Given the description of an element on the screen output the (x, y) to click on. 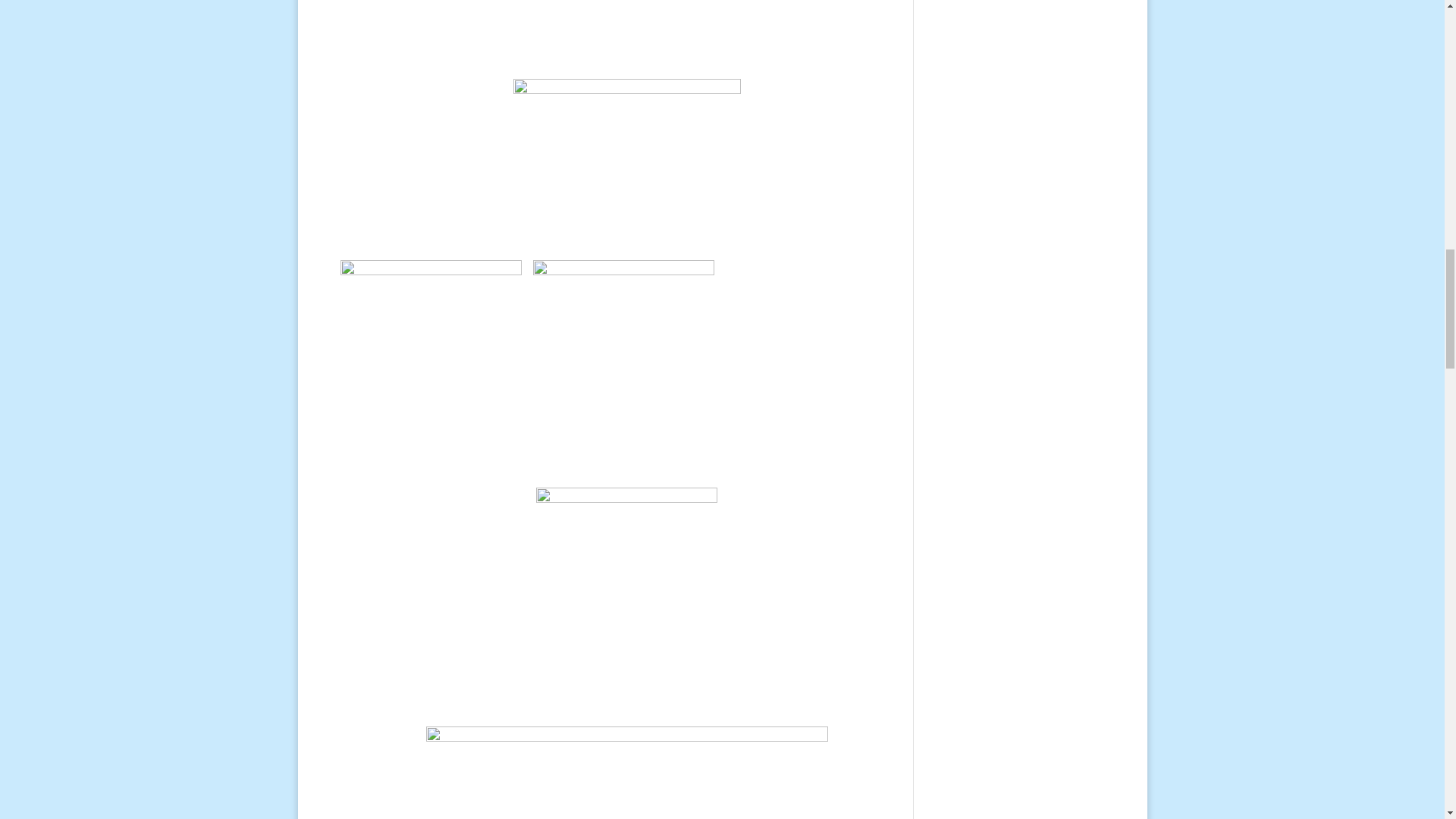
Amused by his pet rock (625, 169)
The Balloons! (627, 39)
Phil's Birthday! (627, 772)
